Given the description of an element on the screen output the (x, y) to click on. 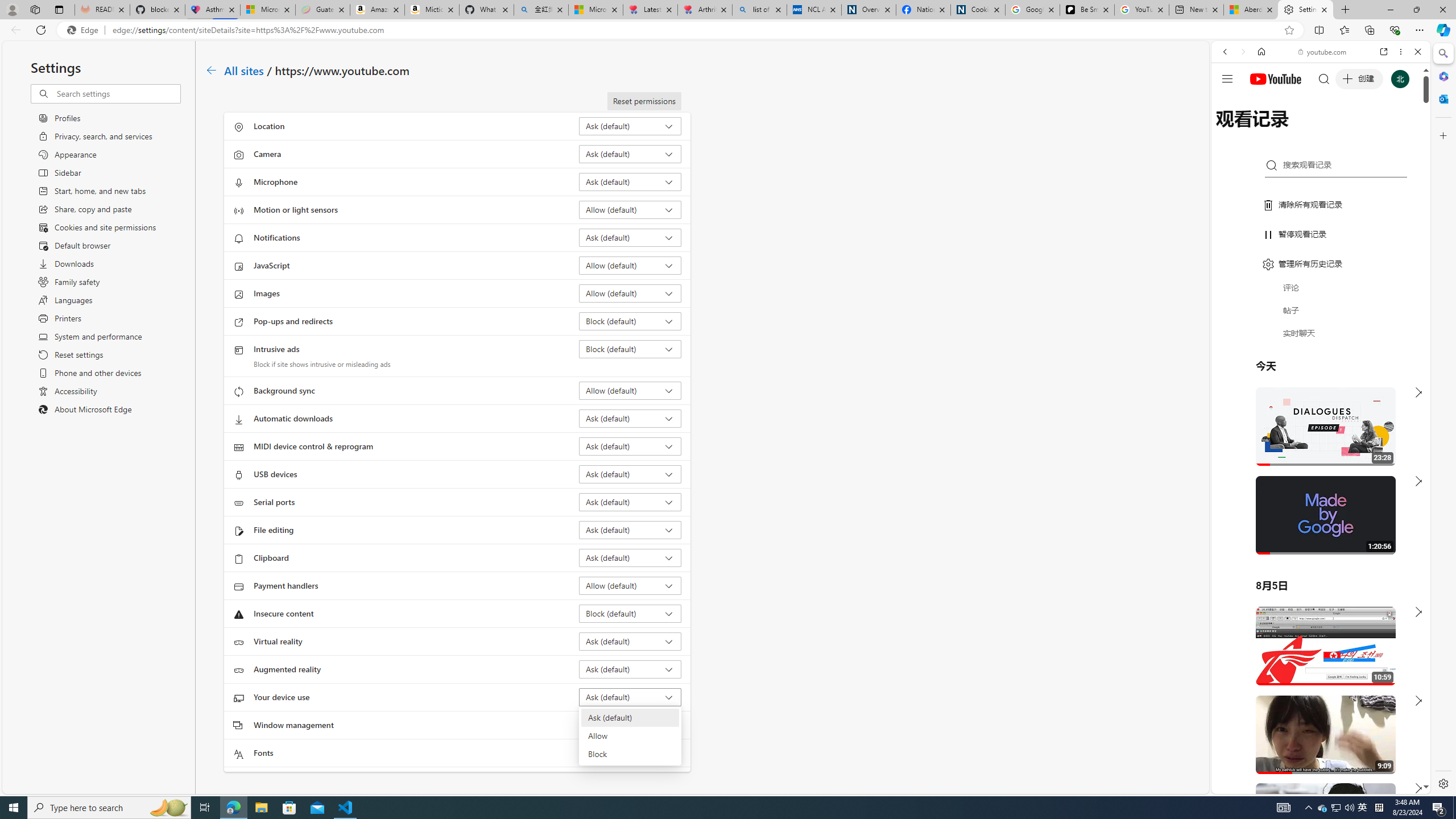
Block (629, 754)
YouTube - YouTube (1315, 560)
Window management Ask (default) (630, 724)
